Given the description of an element on the screen output the (x, y) to click on. 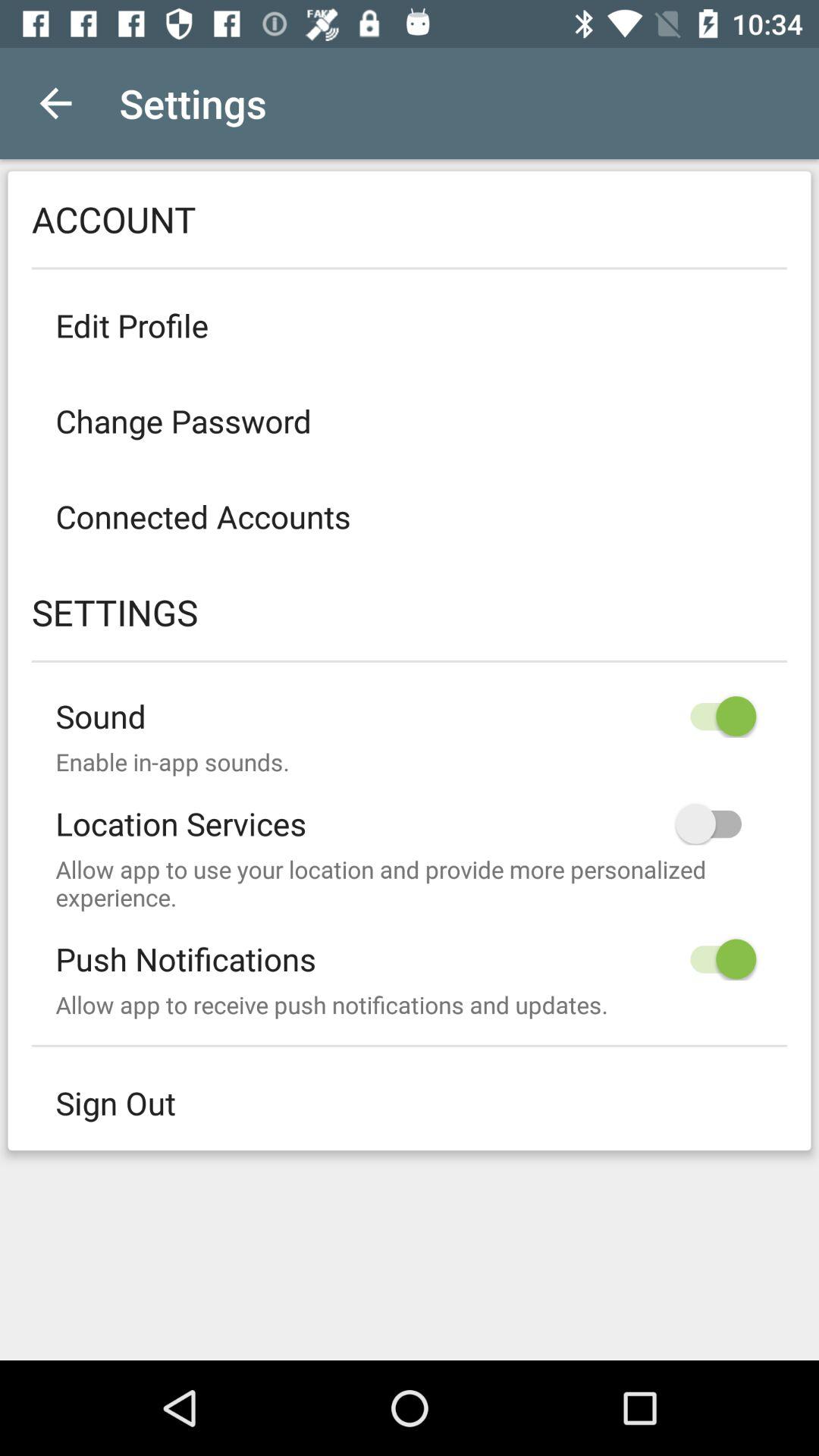
launch edit profile icon (409, 325)
